Given the description of an element on the screen output the (x, y) to click on. 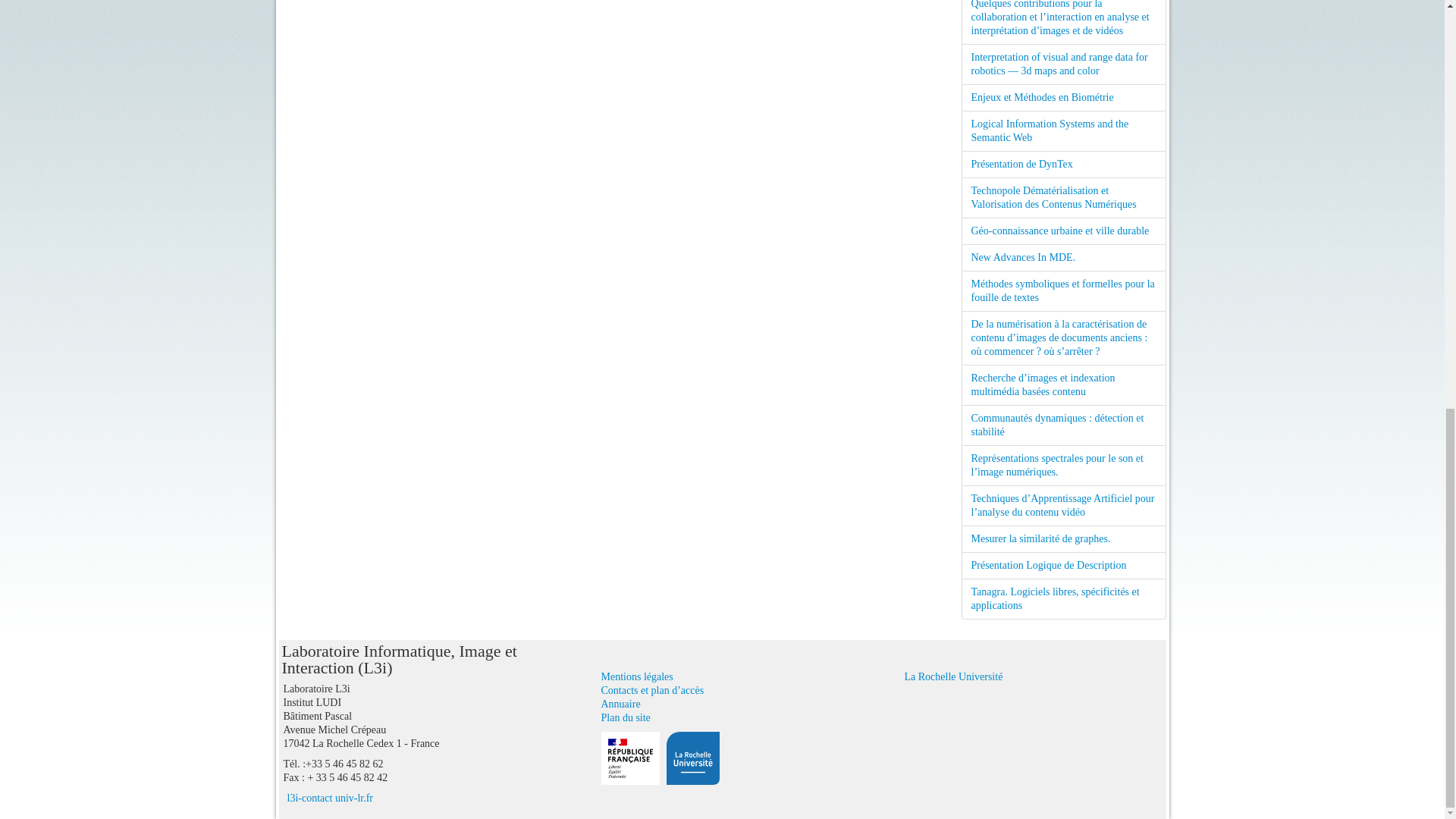
Logical Information Systems and the Semantic Web (1063, 130)
New Advances In MDE. (1063, 257)
